Given the description of an element on the screen output the (x, y) to click on. 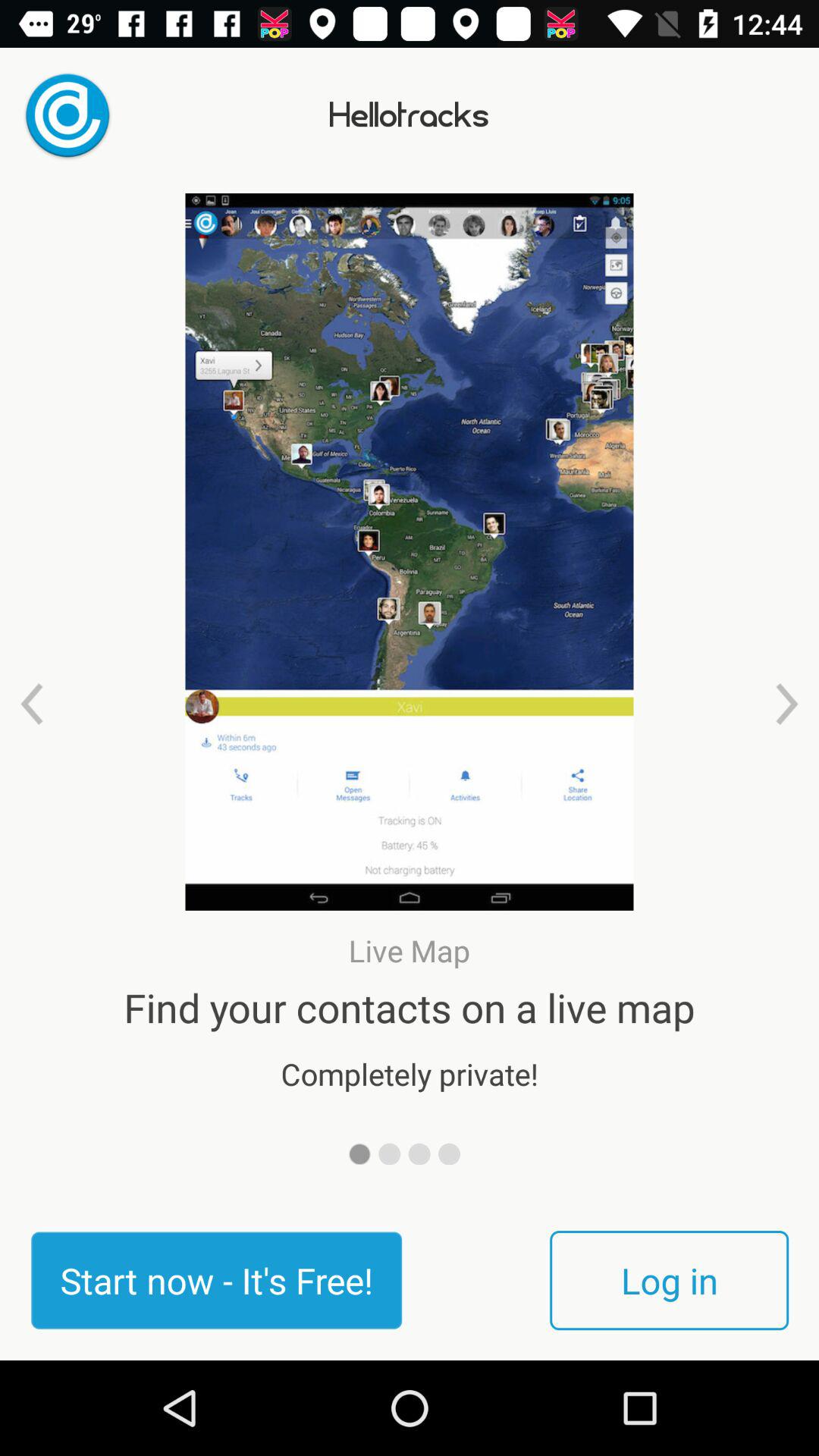
swipe until the start now it (216, 1280)
